Given the description of an element on the screen output the (x, y) to click on. 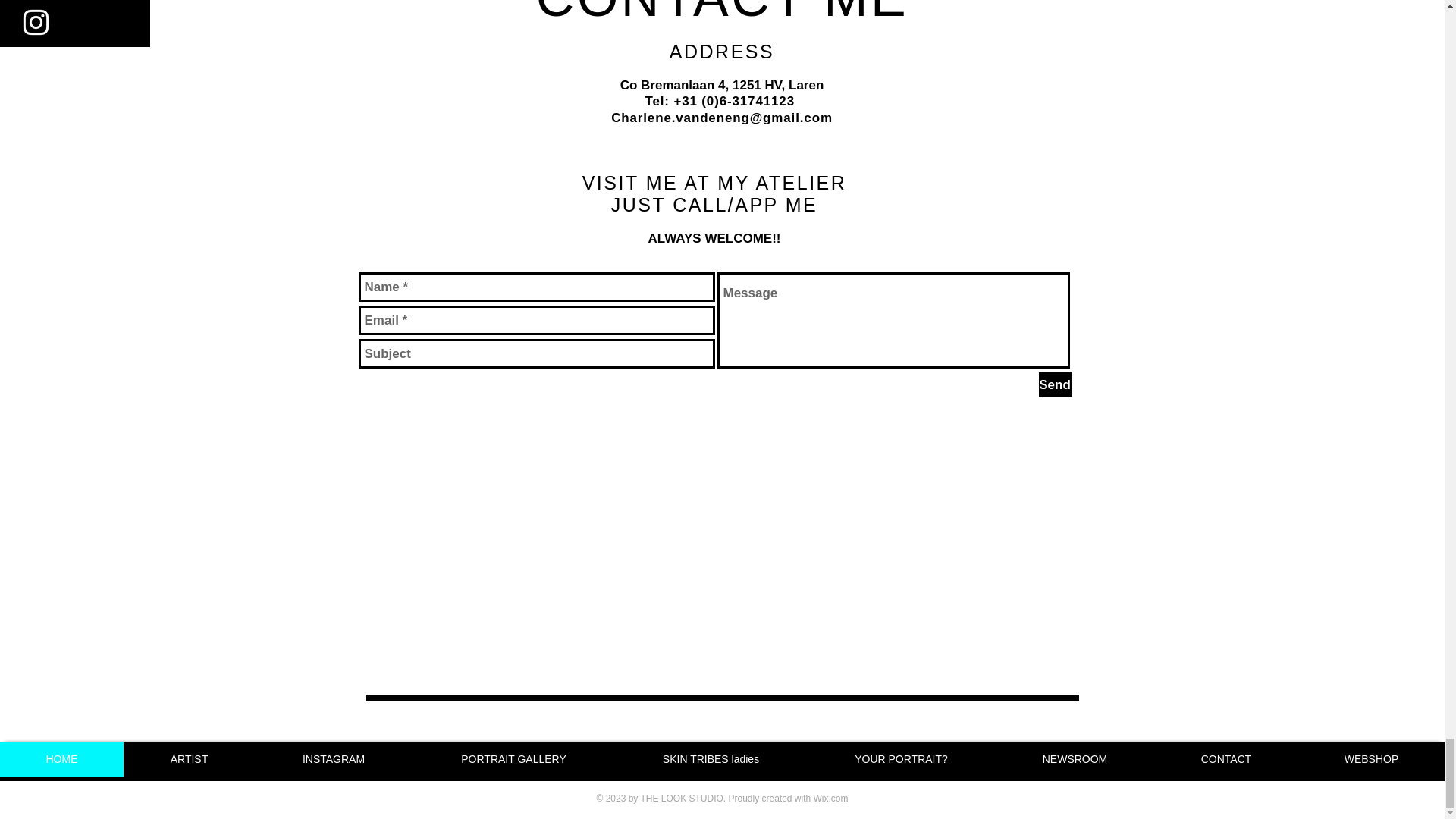
Send (1055, 384)
